Given the description of an element on the screen output the (x, y) to click on. 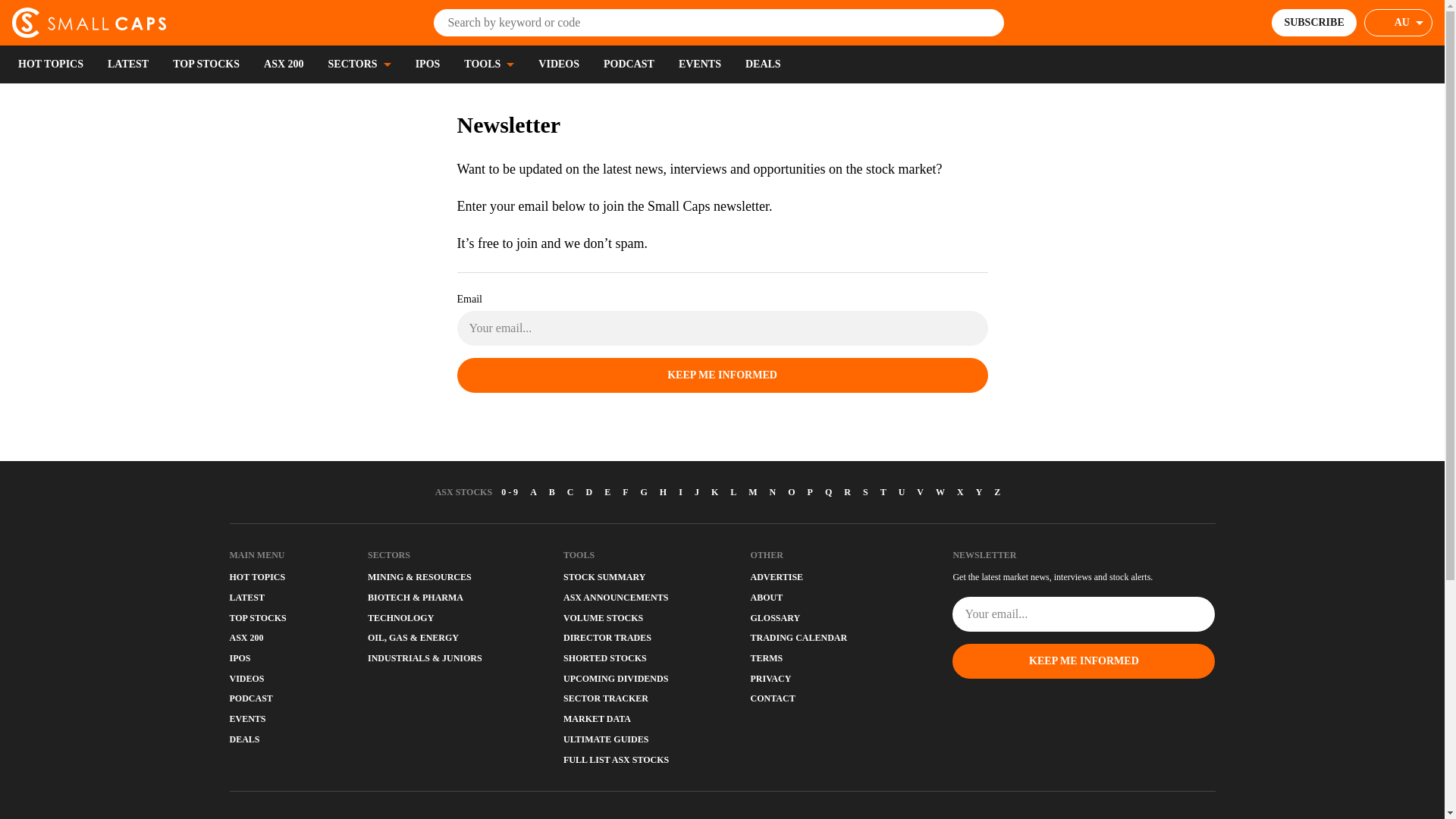
Australia (1408, 22)
LATEST (127, 63)
TOP STOCKS (206, 63)
VIDEOS (558, 63)
ASX 200 (283, 63)
AU (1398, 22)
SECTORS (360, 63)
TOOLS (488, 63)
SUBSCRIBE (1313, 22)
HOT TOPICS (49, 63)
